Given the description of an element on the screen output the (x, y) to click on. 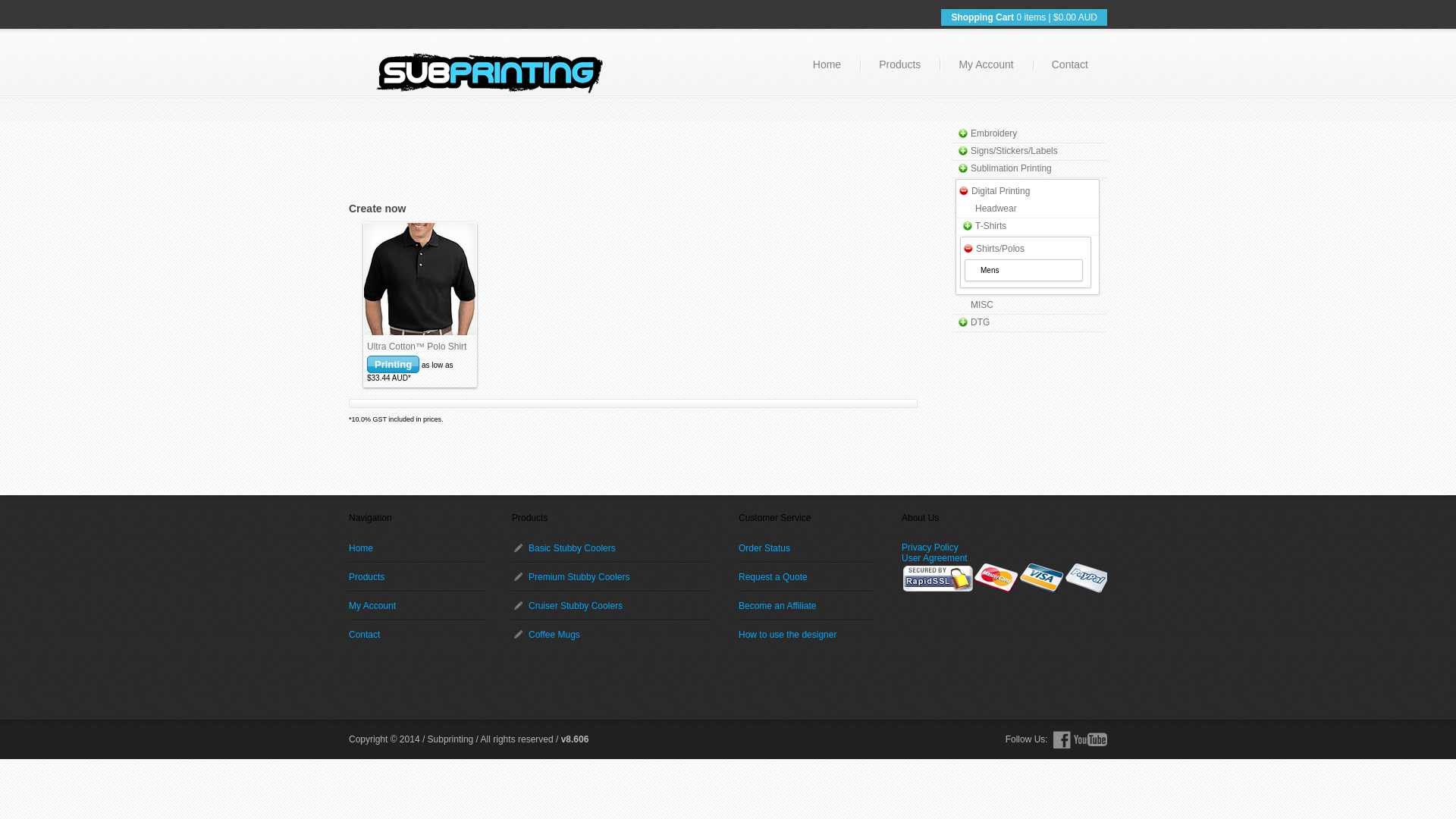
Request a Quote Element type: text (805, 576)
MISC Element type: text (981, 304)
Embroidery Element type: text (993, 133)
Products Element type: text (899, 64)
Headwear Element type: text (995, 208)
My Account Element type: text (985, 64)
Order Status Element type: text (805, 547)
How to use the designer Element type: text (805, 634)
Sublimation Printing Element type: text (1010, 168)
  Element type: text (419, 278)
Signs/Stickers/Labels Element type: text (1013, 150)
Contact Element type: text (1069, 64)
You Tube Element type: hover (1090, 739)
Digital Printing Element type: text (1000, 190)
User Agreement Element type: text (934, 557)
My Account Element type: text (416, 605)
T-Shirts Element type: text (990, 225)
Facebook Element type: hover (1061, 739)
Shirts/Polos Element type: text (999, 248)
Shopping Cart 0 items | $0.00 AUD Element type: text (1009, 16)
Basic Stubby Coolers Element type: text (610, 547)
Become an Affiliate Element type: text (805, 605)
Privacy Policy Element type: text (929, 547)
Home Element type: text (416, 547)
Contact Element type: text (416, 634)
Creative Stubby Holders Element type: hover (489, 77)
Premium Stubby Coolers Element type: text (610, 576)
Coffee Mugs Element type: text (610, 634)
Printing Element type: text (393, 364)
DTG Element type: text (979, 321)
Cruiser Stubby Coolers Element type: text (610, 605)
Products Element type: text (416, 576)
Home Element type: text (826, 64)
